Given the description of an element on the screen output the (x, y) to click on. 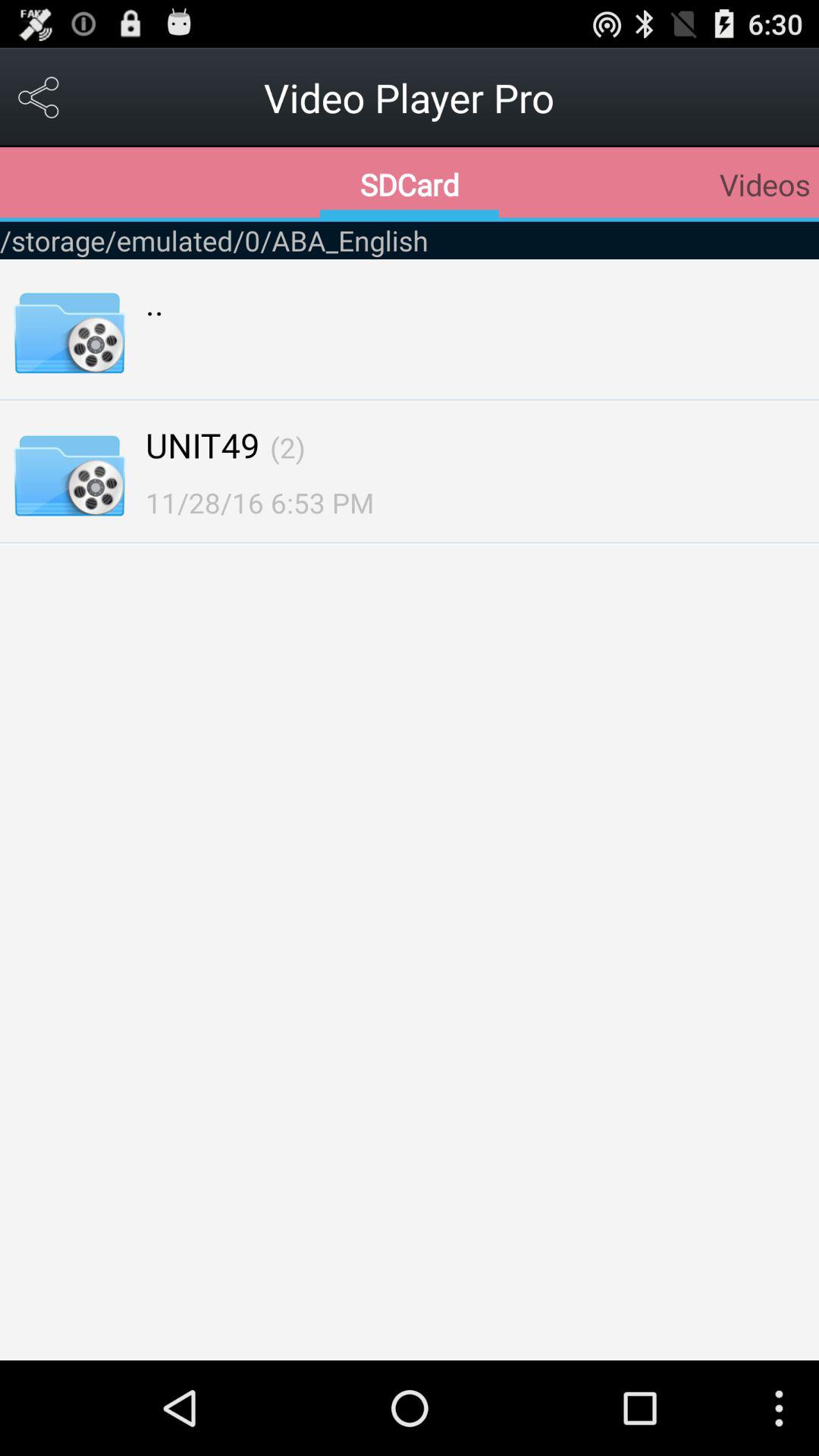
choose item to the right of the unit49 icon (287, 447)
